Given the description of an element on the screen output the (x, y) to click on. 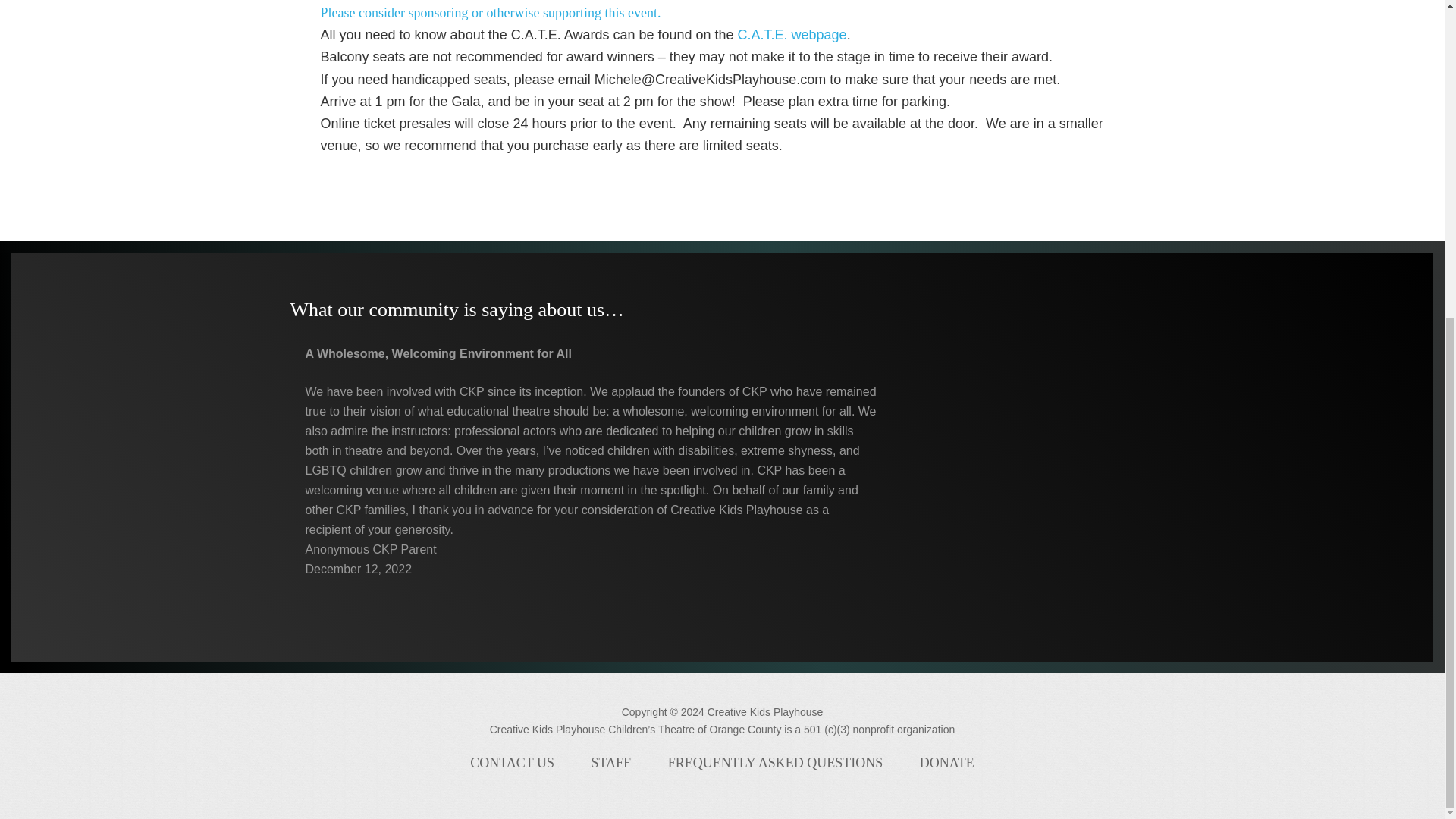
C.A.T.E. webpage (792, 34)
FREQUENTLY ASKED QUESTIONS (774, 762)
CONTACT US (511, 762)
STAFF (611, 762)
